Given the description of an element on the screen output the (x, y) to click on. 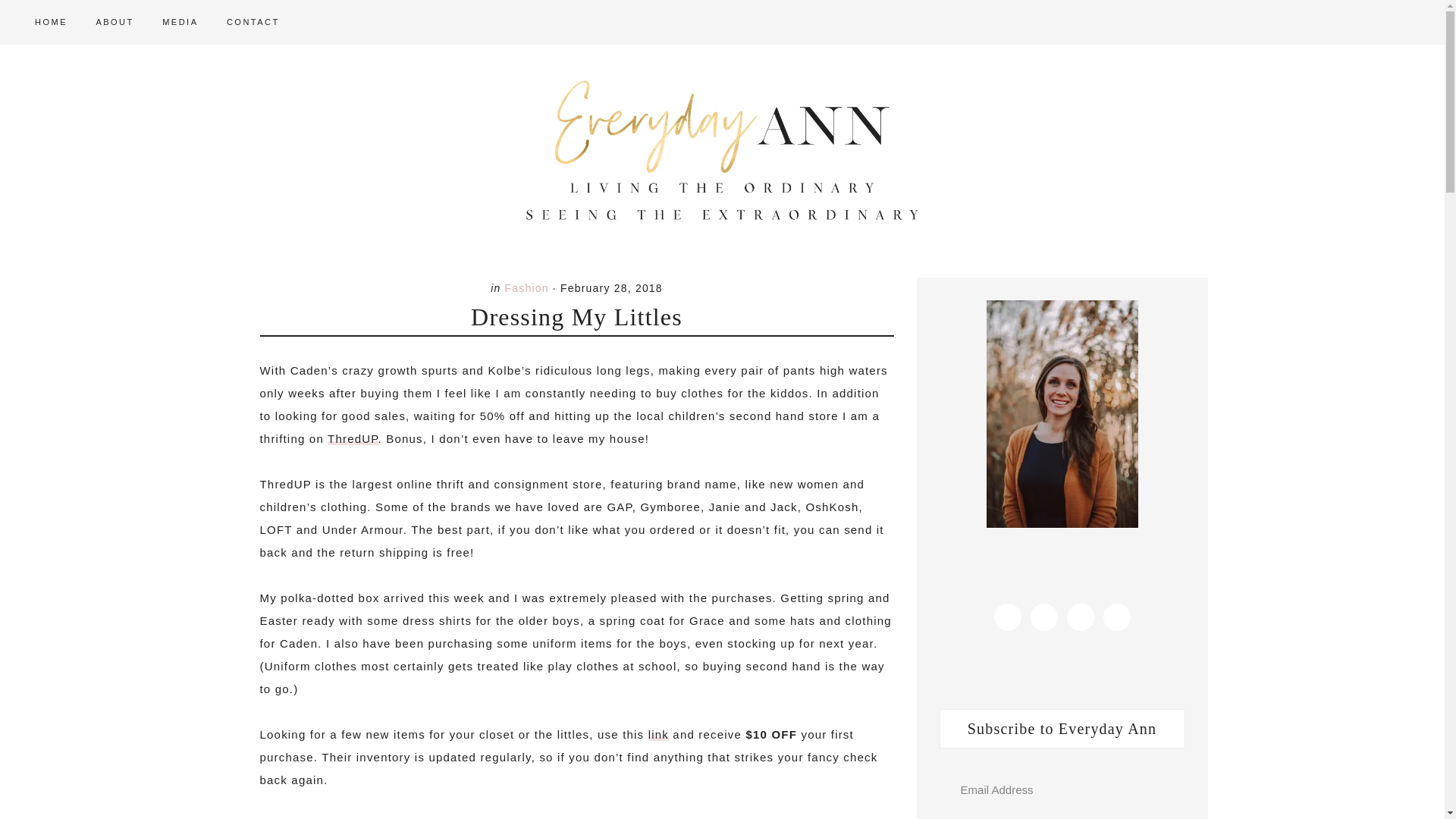
MEDIA (179, 22)
link (657, 734)
ABOUT (113, 22)
HOME (51, 22)
Fashion (526, 287)
ThredUP (352, 438)
CONTACT (253, 22)
